Given the description of an element on the screen output the (x, y) to click on. 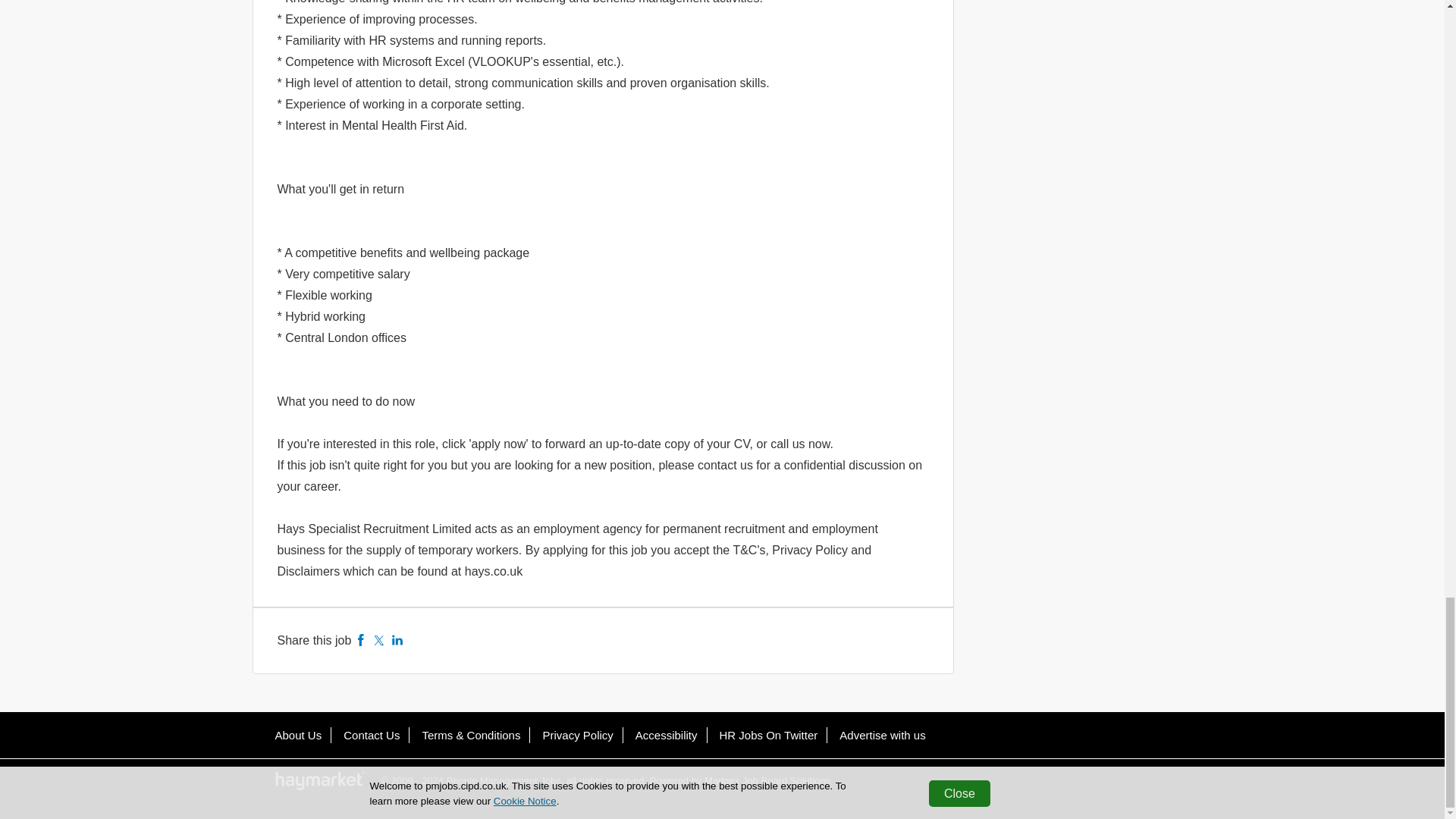
Twitter (378, 640)
Facebook (360, 640)
LinkedIn (397, 640)
